Given the description of an element on the screen output the (x, y) to click on. 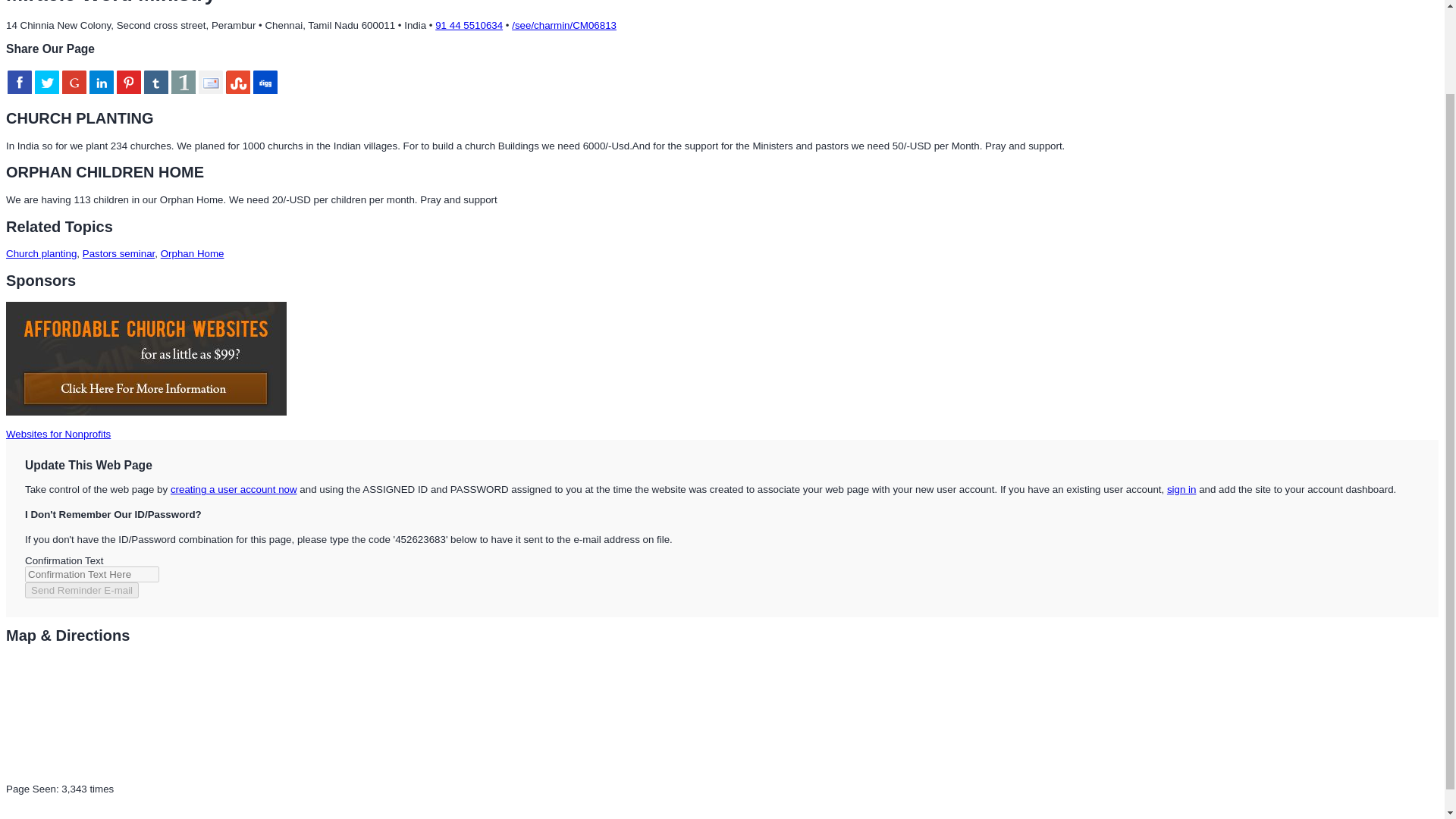
Pastors seminar (118, 253)
Send Reminder E-mail (81, 590)
Share this page on digg (265, 81)
Websites for Nonprofits (57, 433)
Share this page on tumblr (156, 81)
Share this page on linkedin (100, 81)
Orphan Home (192, 253)
Send Reminder E-mail (81, 590)
Share this page on googleplus (73, 81)
